Given the description of an element on the screen output the (x, y) to click on. 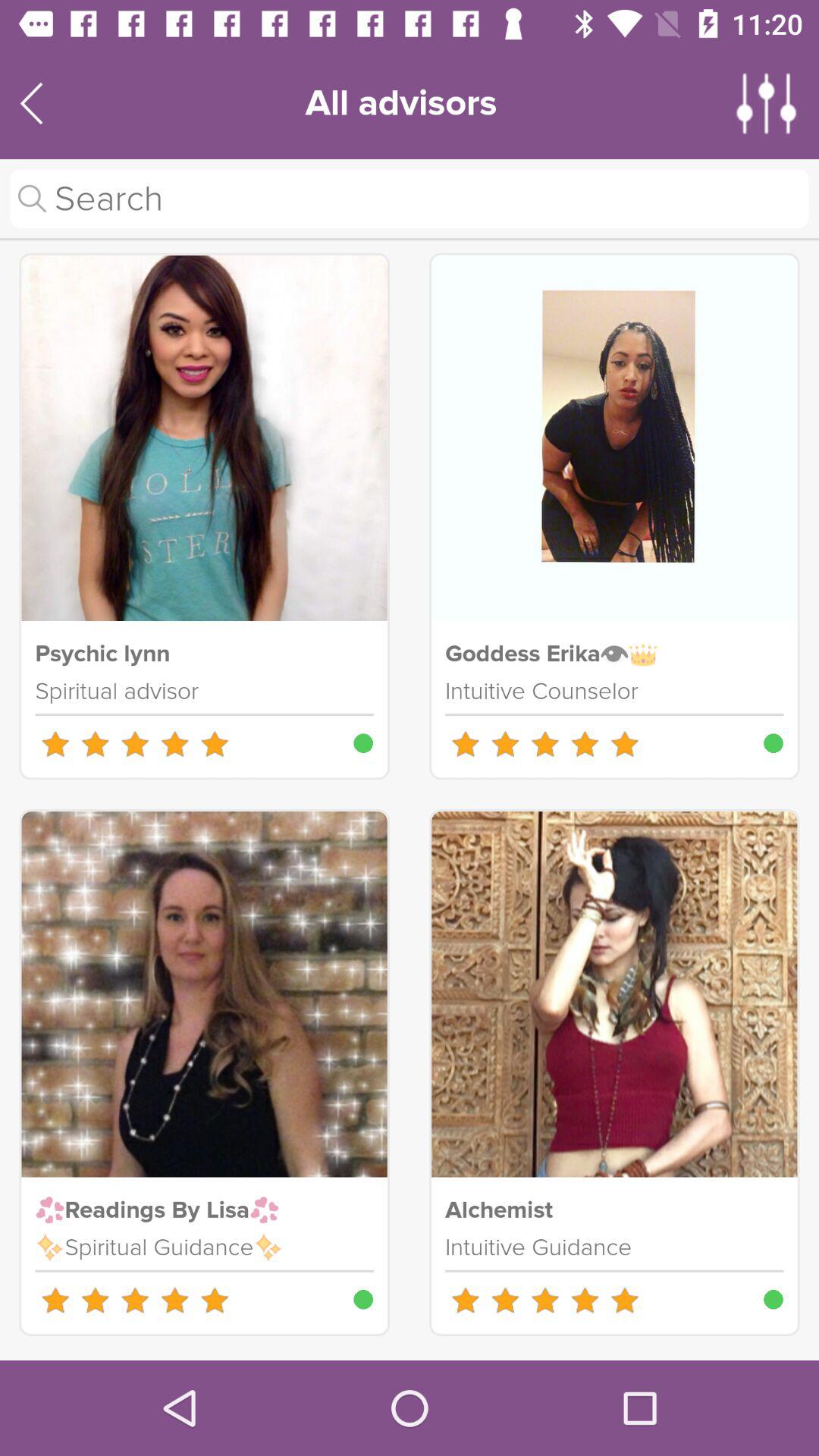
press icon next to all advisors icon (767, 103)
